Given the description of an element on the screen output the (x, y) to click on. 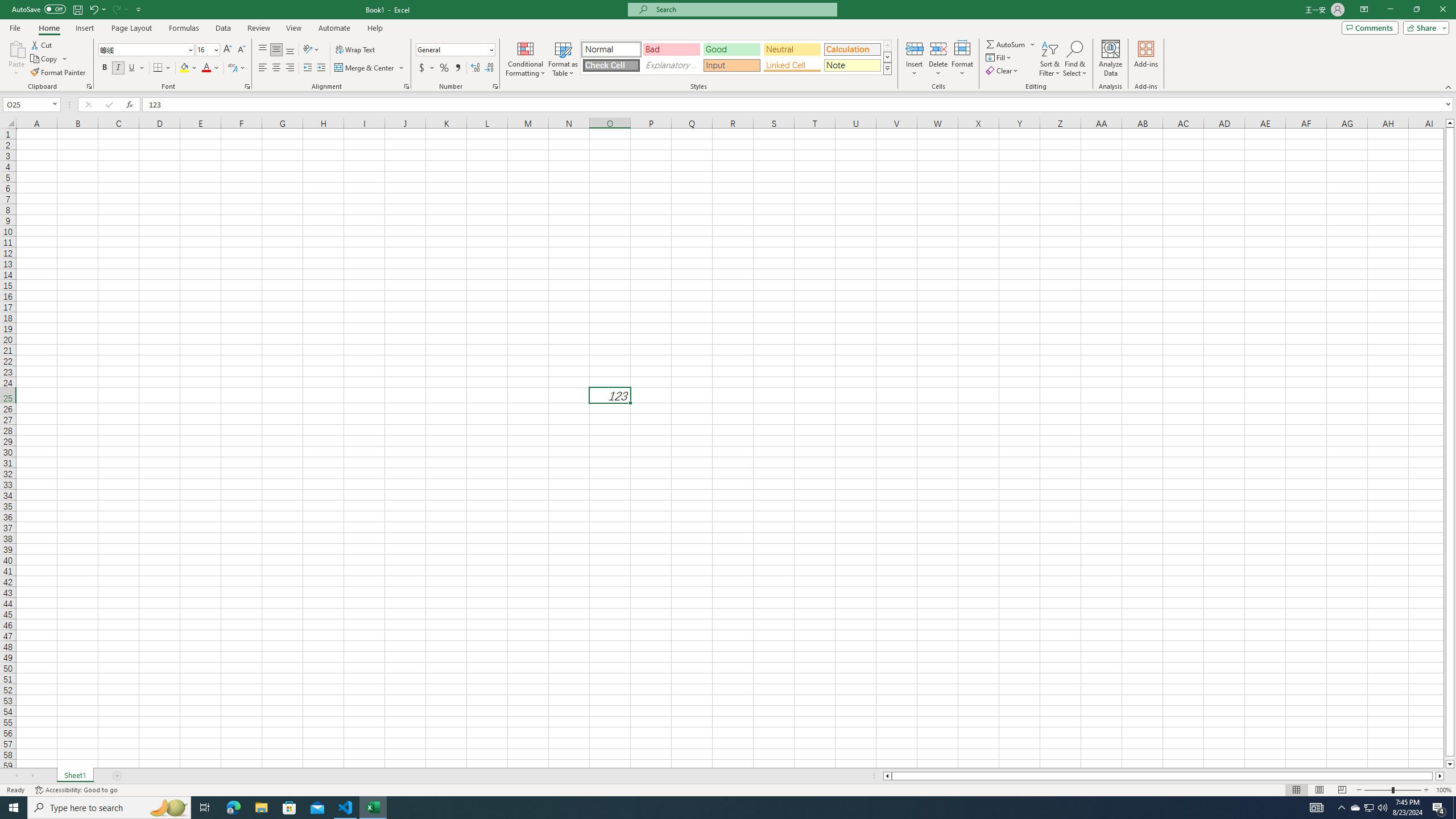
Percent Style (443, 67)
Increase Indent (320, 67)
Input (731, 65)
Merge & Center (365, 67)
Decrease Decimal (489, 67)
Font (142, 49)
Wrap Text (355, 49)
Share (1423, 27)
Open (54, 104)
Insert Cells (914, 48)
Show Phonetic Field (236, 67)
Save (77, 9)
Italic (118, 67)
Comments (1369, 27)
